Given the description of an element on the screen output the (x, y) to click on. 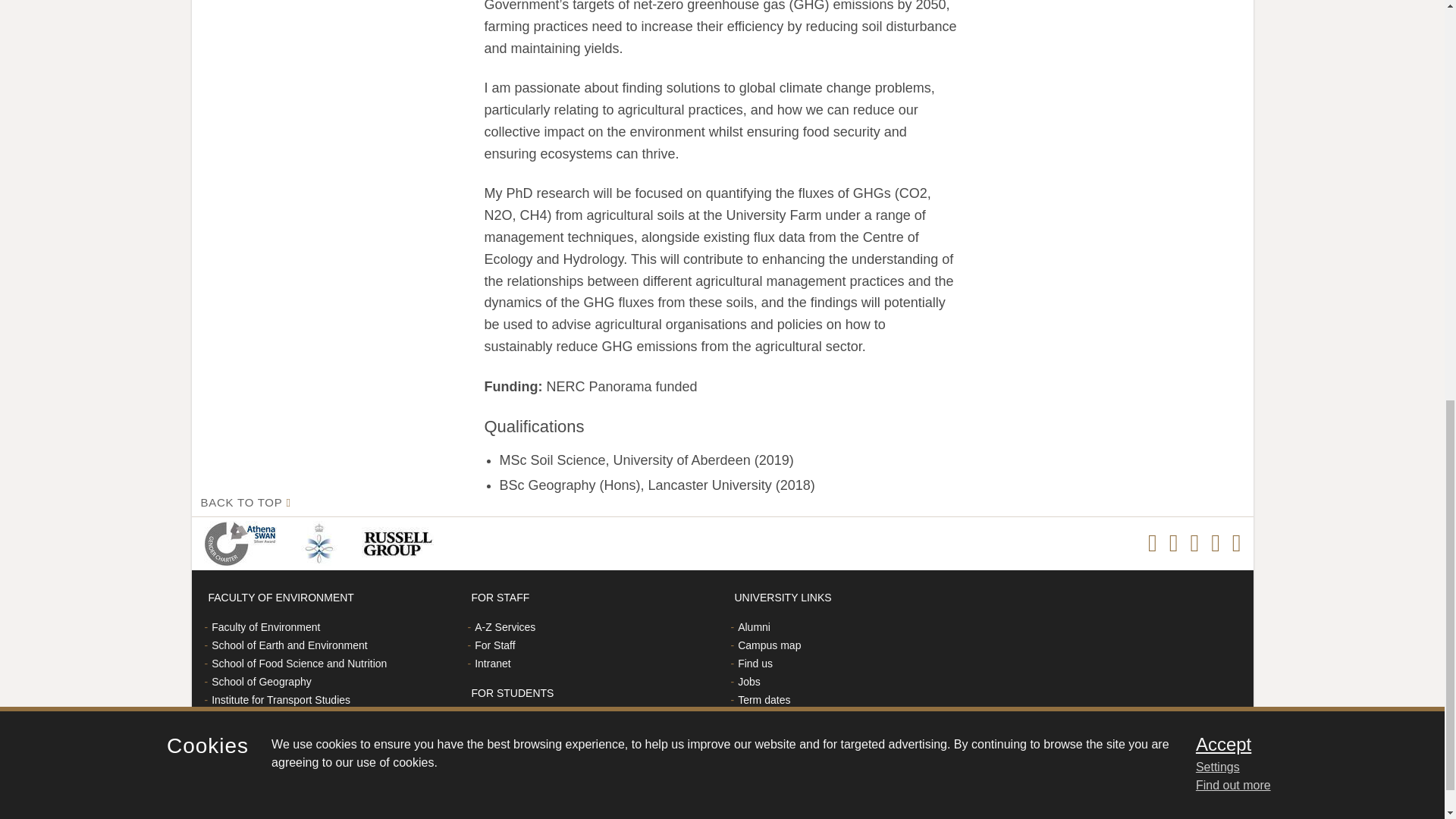
Visit Athena SWAN Silver award (242, 543)
Visit Russell Group (400, 543)
Visit Queen's anniversary prize (321, 543)
